Given the description of an element on the screen output the (x, y) to click on. 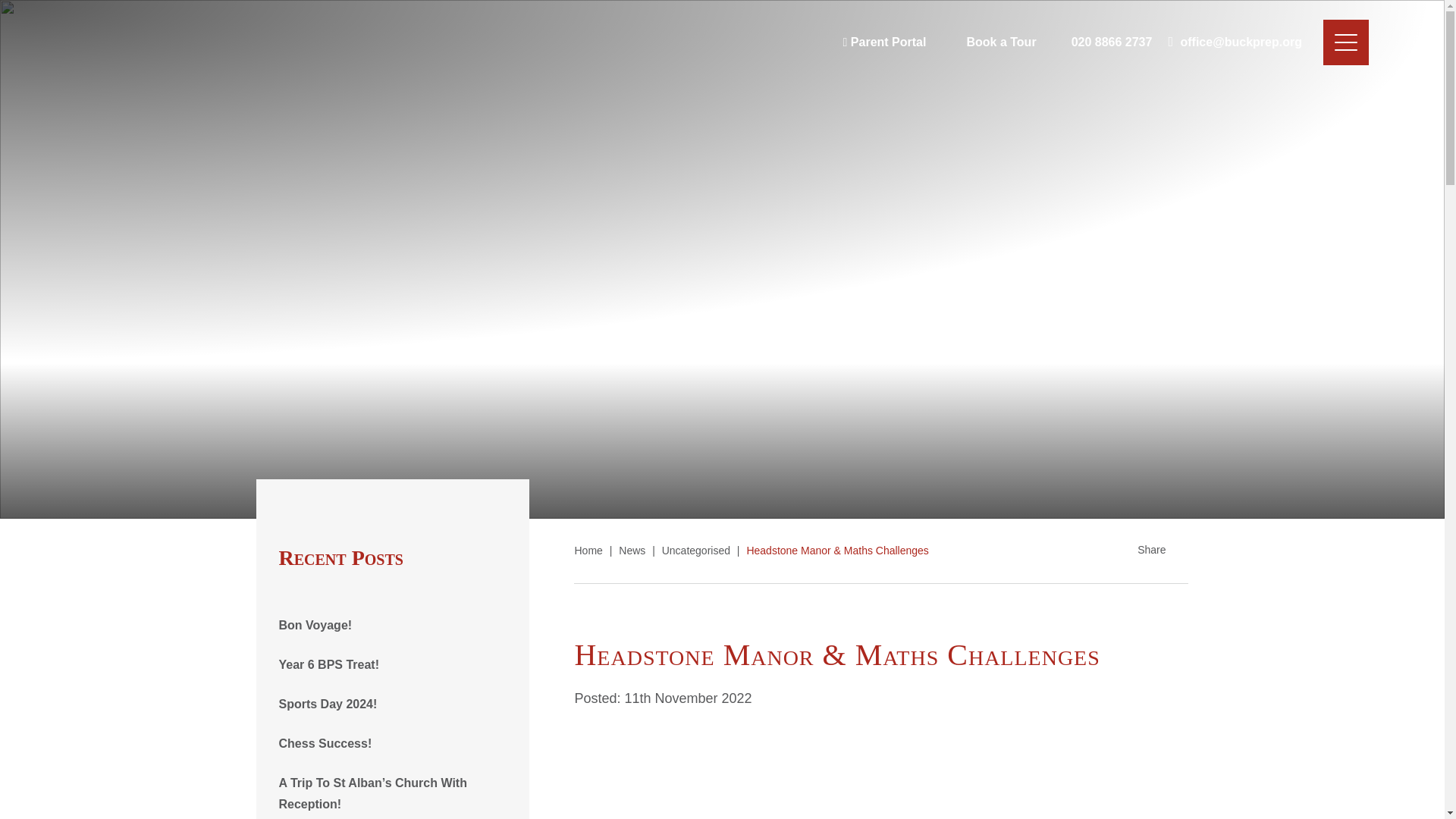
Book a Tour (988, 42)
Go to the Uncategorised category archives. (696, 550)
020 8866 2737 (1102, 42)
Go to News. (631, 550)
Email (1234, 42)
Go to Buckingham Prep. (587, 550)
Parent Portal (884, 42)
